Given the description of an element on the screen output the (x, y) to click on. 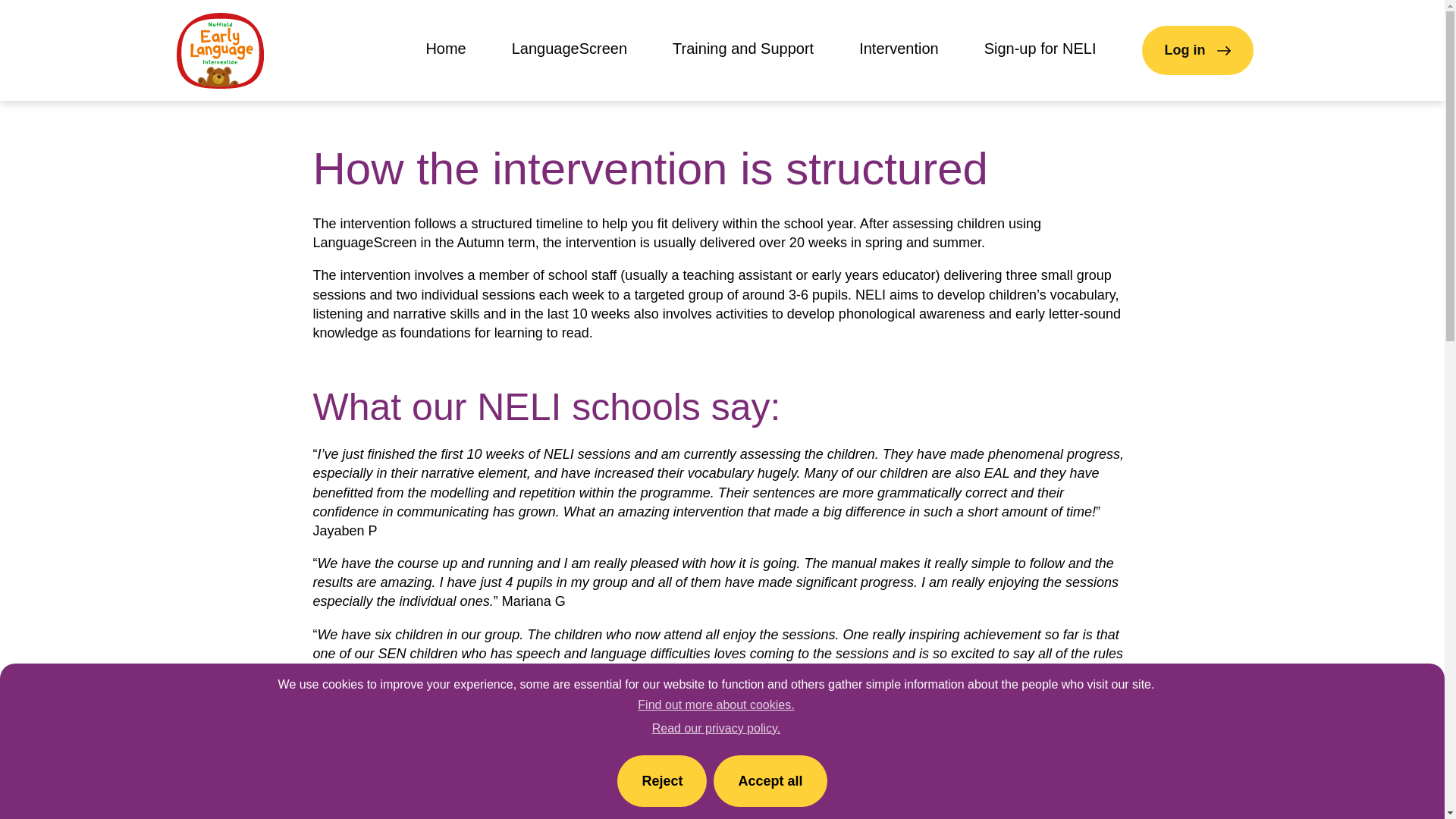
Sign-up for NELI (1040, 50)
Training and Support (742, 50)
Log in (1197, 50)
LanguageScreen (569, 50)
